Given the description of an element on the screen output the (x, y) to click on. 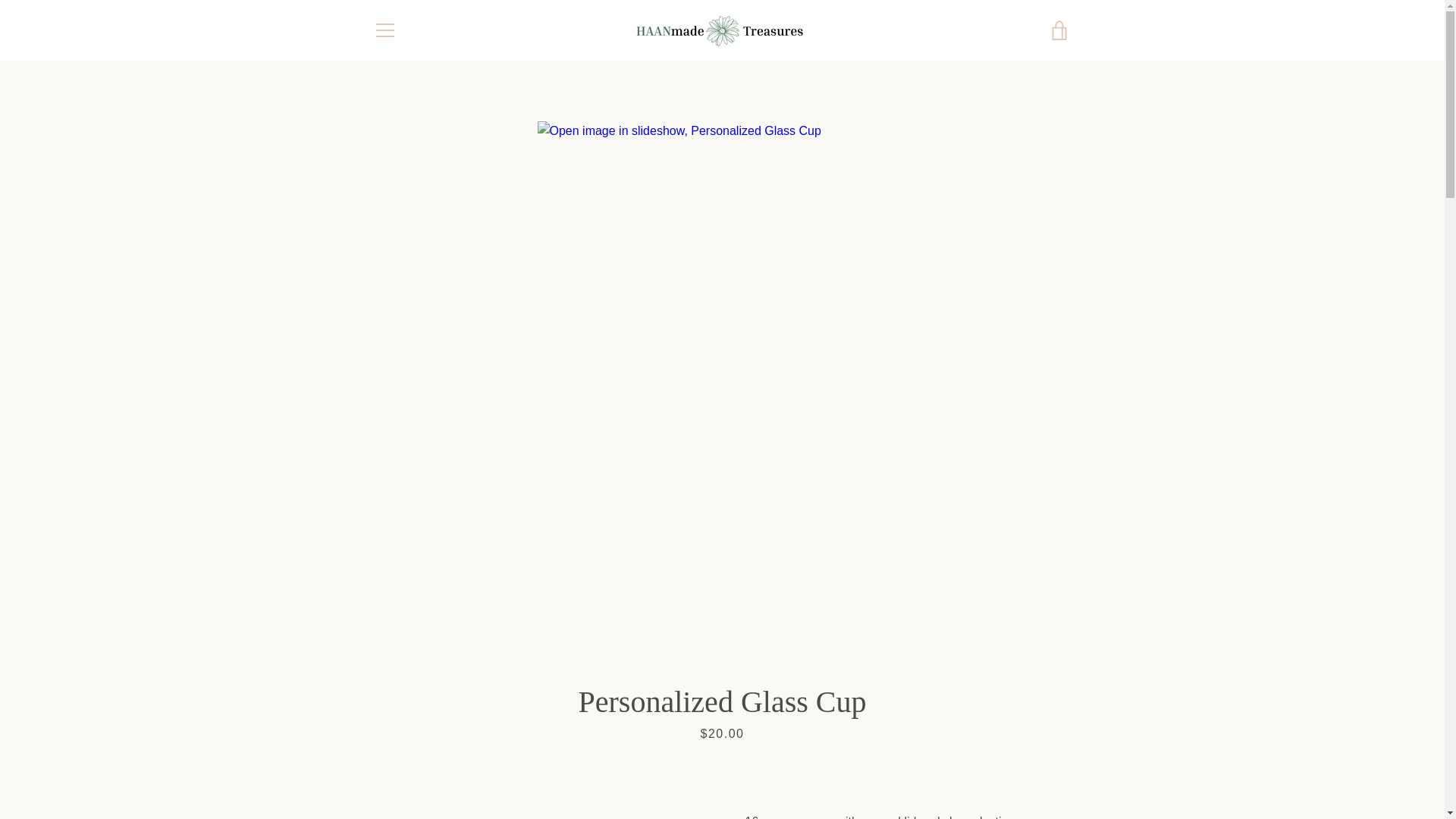
Meta Pay (1022, 755)
Shop Pay (988, 778)
Google Pay (1057, 755)
MENU (384, 30)
Mastercard (918, 778)
VIEW CART (1059, 30)
Venmo (1022, 778)
American Express (883, 755)
PayPal (953, 778)
Diners Club (953, 755)
Visa (1057, 778)
Apple Pay (918, 755)
Discover (988, 755)
